Given the description of an element on the screen output the (x, y) to click on. 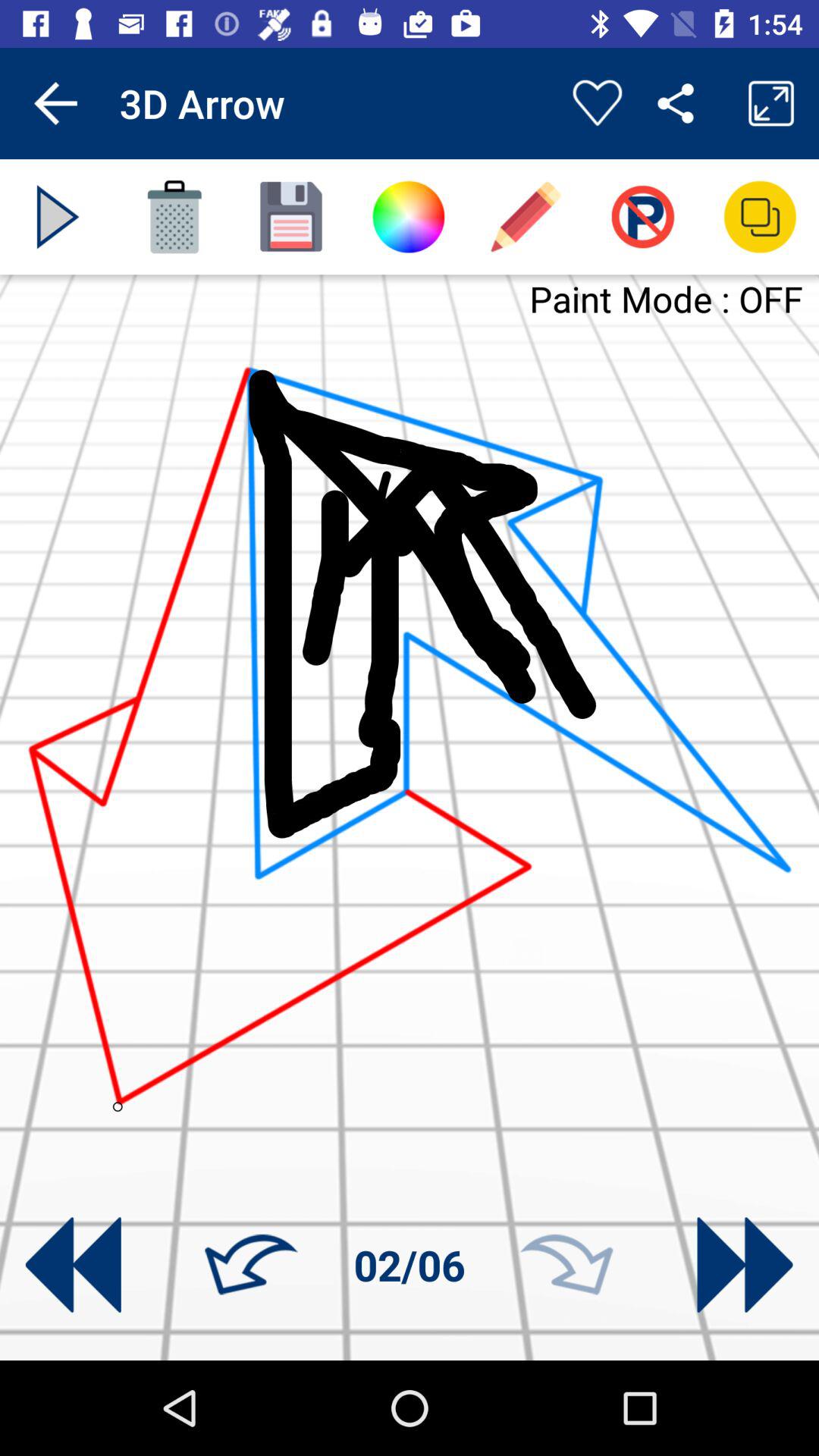
go left (251, 1264)
